Given the description of an element on the screen output the (x, y) to click on. 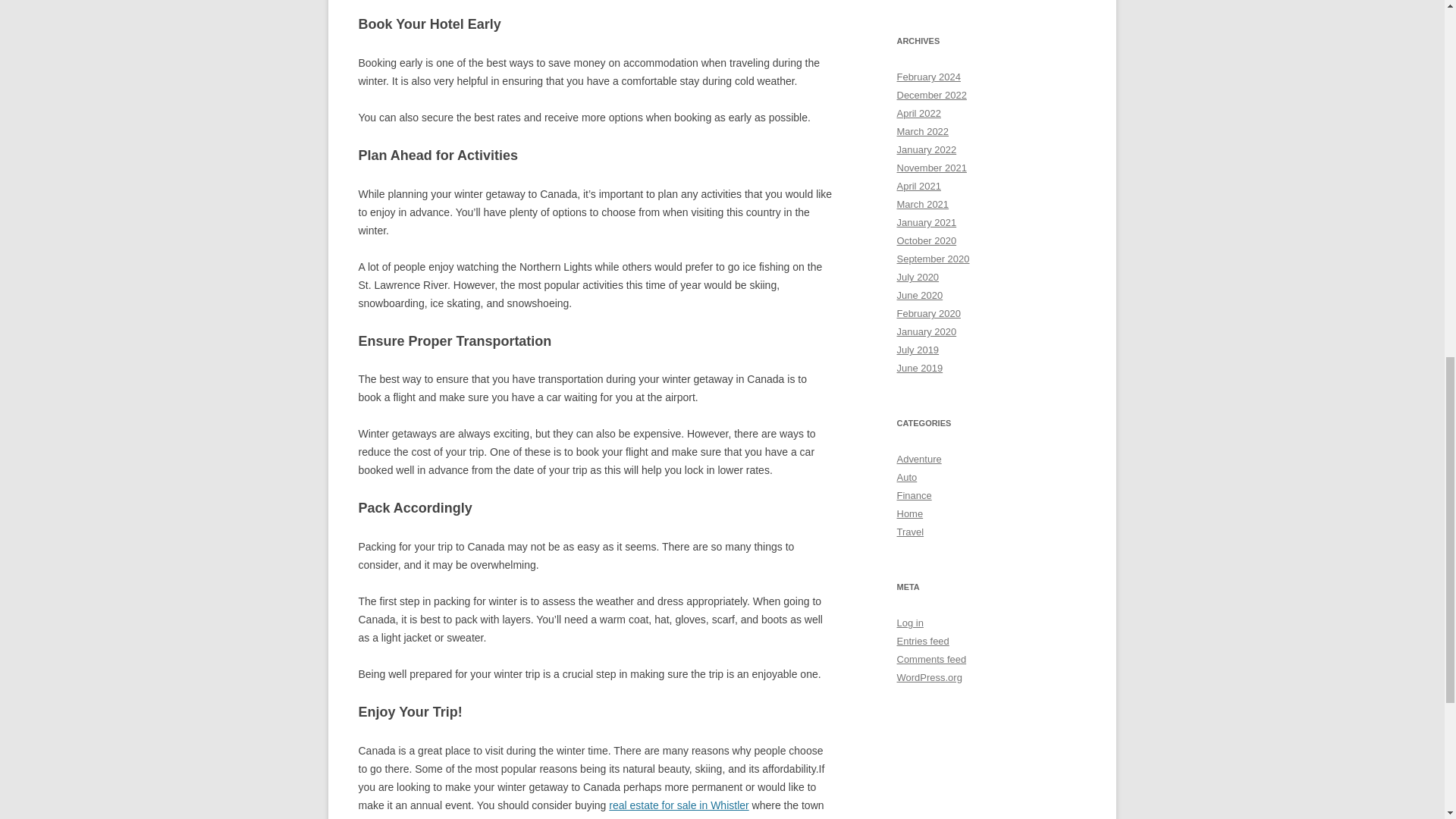
March 2022 (922, 131)
Adventure (918, 459)
December 2022 (931, 94)
Auto (906, 477)
July 2019 (917, 349)
January 2021 (926, 222)
April 2022 (918, 112)
April 2021 (918, 185)
February 2024 (927, 76)
November 2021 (931, 167)
October 2020 (926, 240)
September 2020 (932, 258)
January 2020 (926, 331)
March 2021 (922, 204)
July 2020 (917, 276)
